Given the description of an element on the screen output the (x, y) to click on. 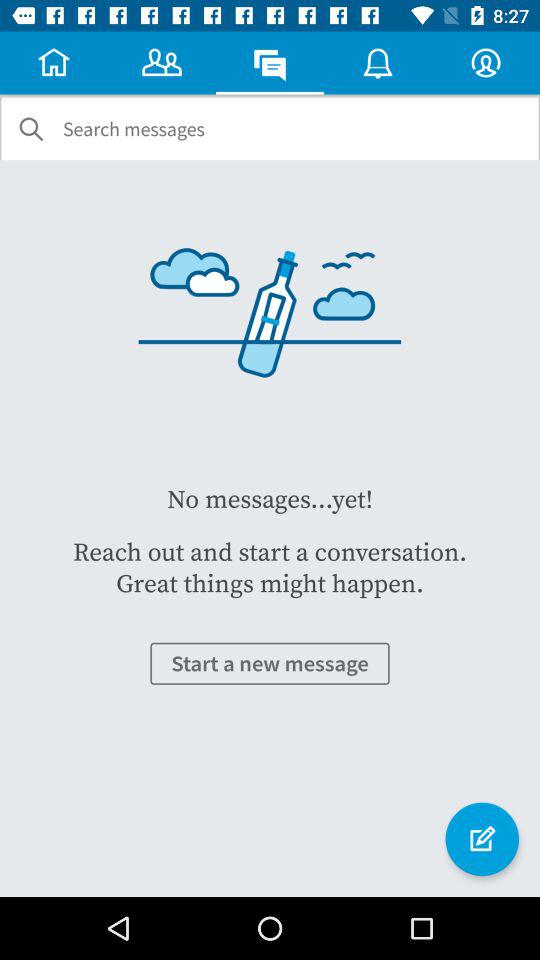
press item next to search messages (31, 129)
